Given the description of an element on the screen output the (x, y) to click on. 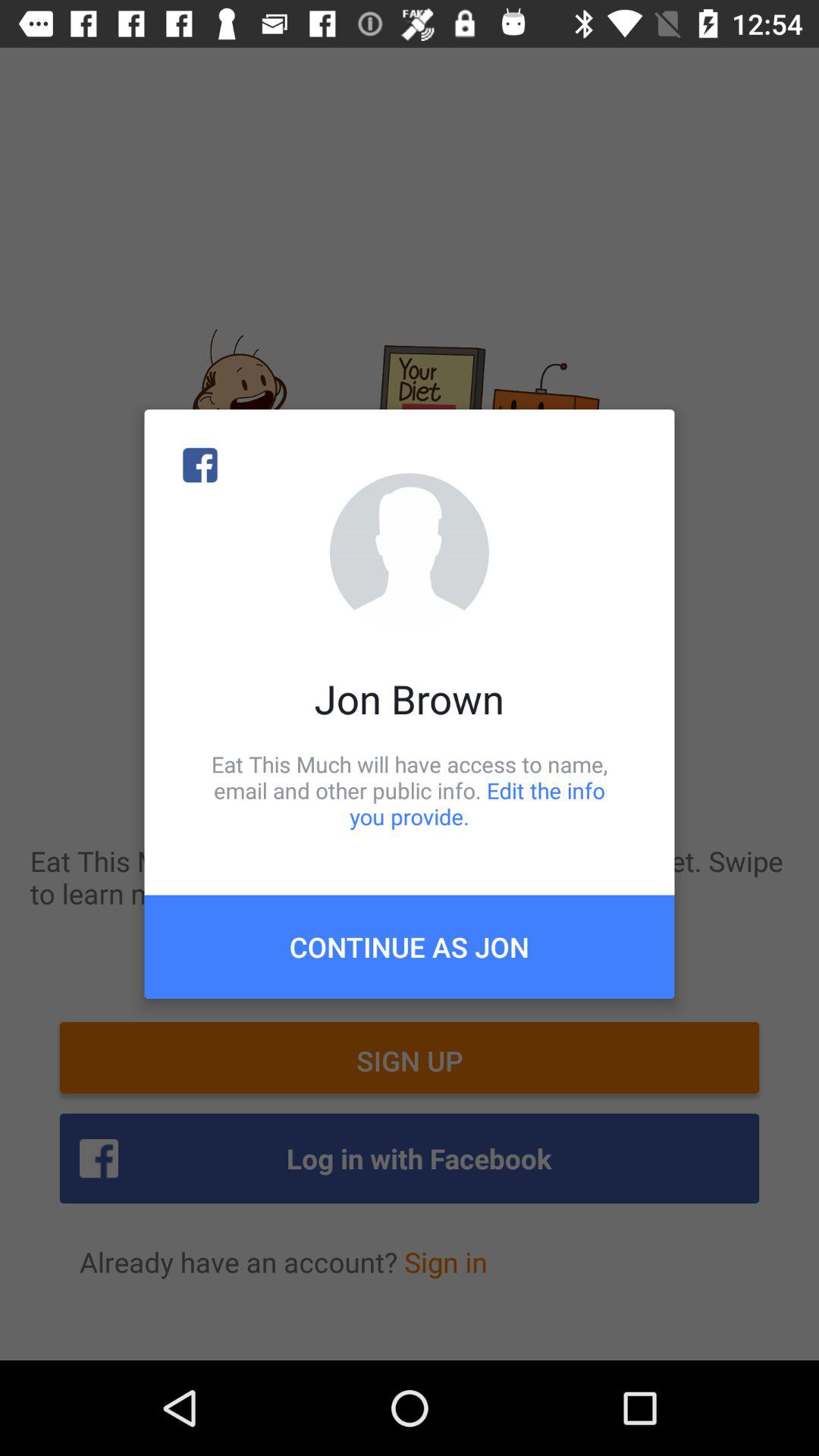
scroll until continue as jon icon (409, 946)
